Given the description of an element on the screen output the (x, y) to click on. 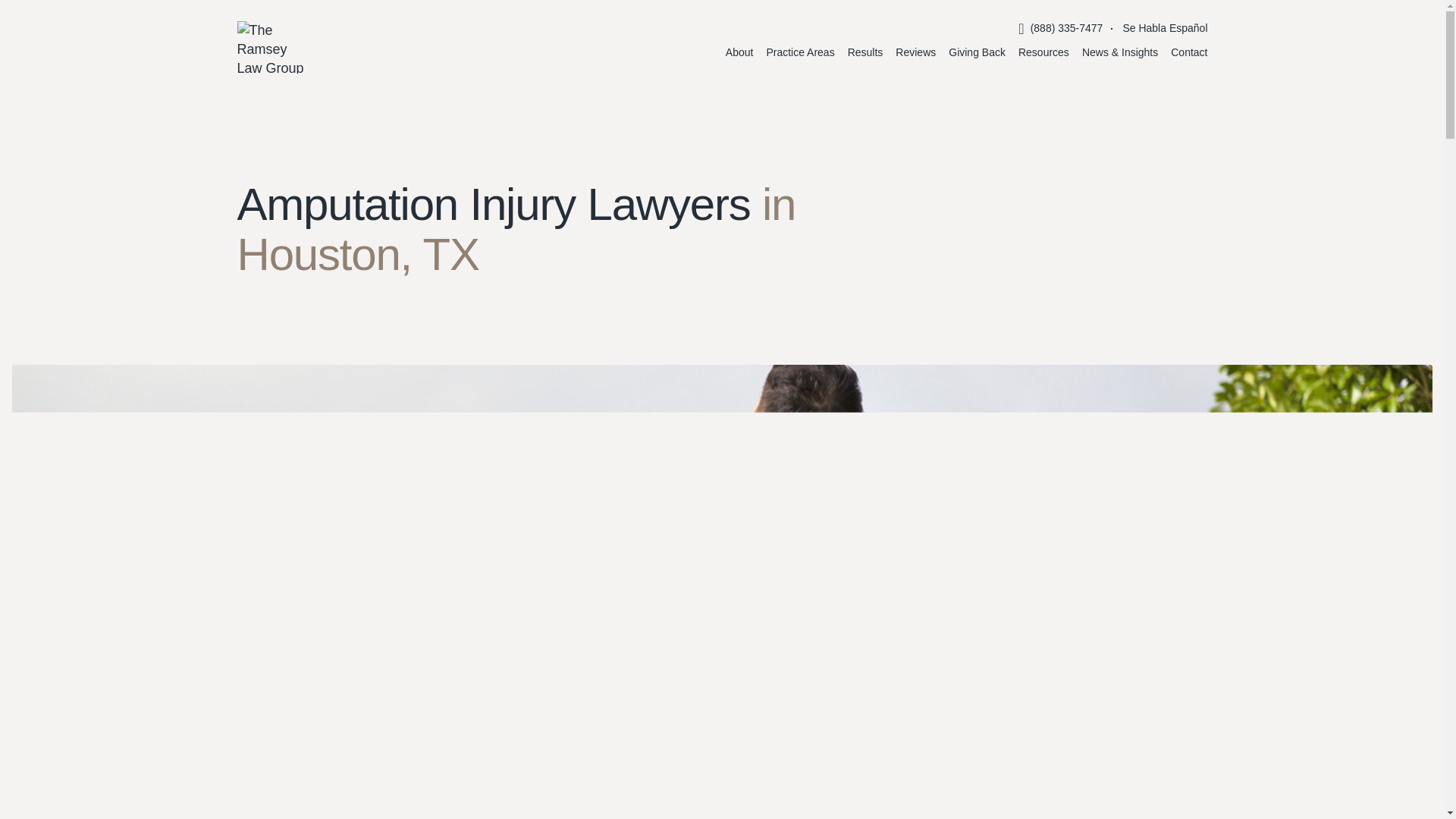
Reviews (915, 52)
Results (865, 52)
Contact (1188, 52)
About (739, 52)
Giving Back (977, 52)
Resources (1042, 52)
Practice Areas (799, 52)
